Given the description of an element on the screen output the (x, y) to click on. 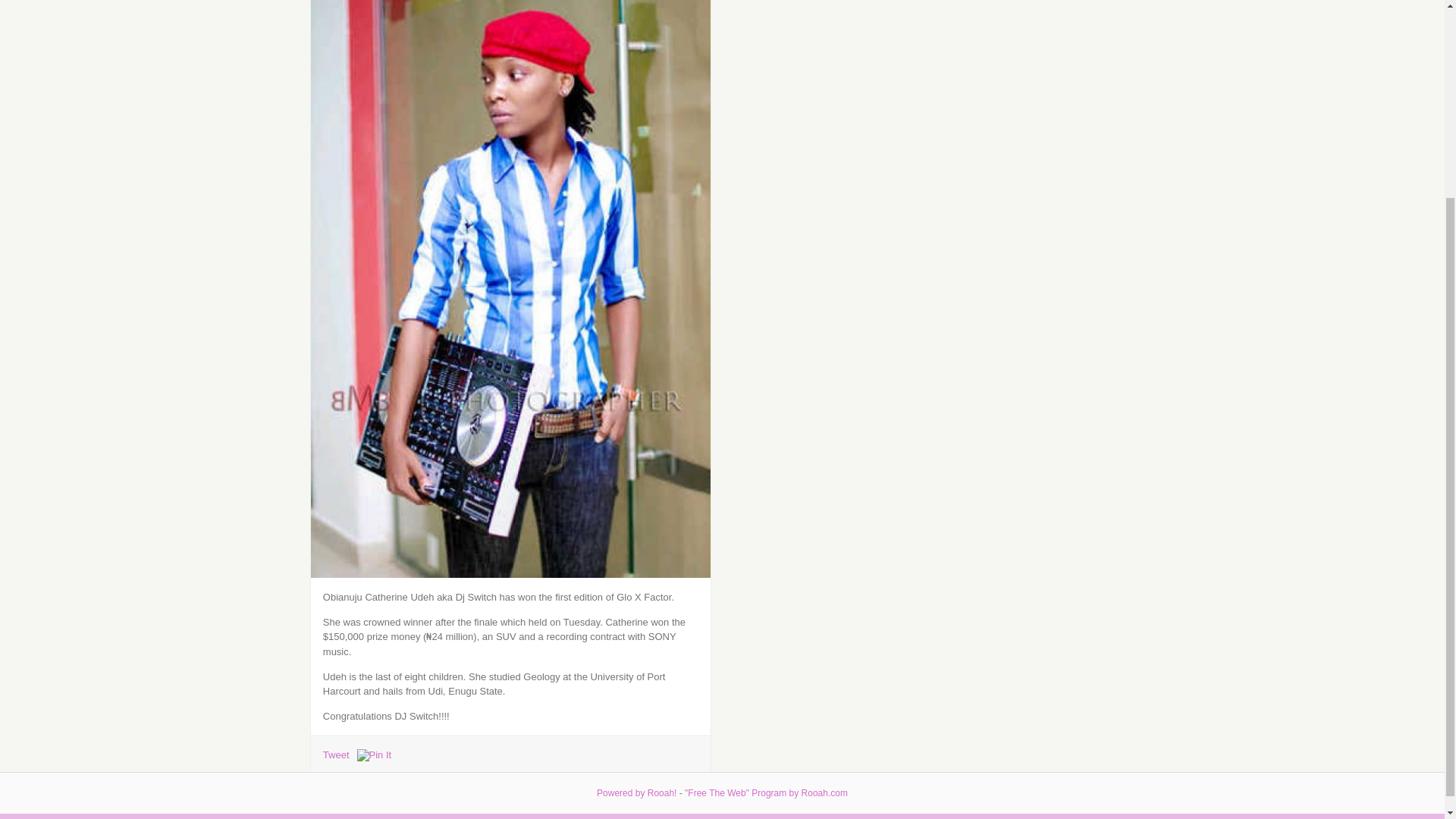
"Free The Web" Program by Rooah.com (765, 536)
Tweet (336, 754)
Get Free Website Development (765, 536)
Pin It (373, 755)
Powered by Rooah! (636, 536)
